Given the description of an element on the screen output the (x, y) to click on. 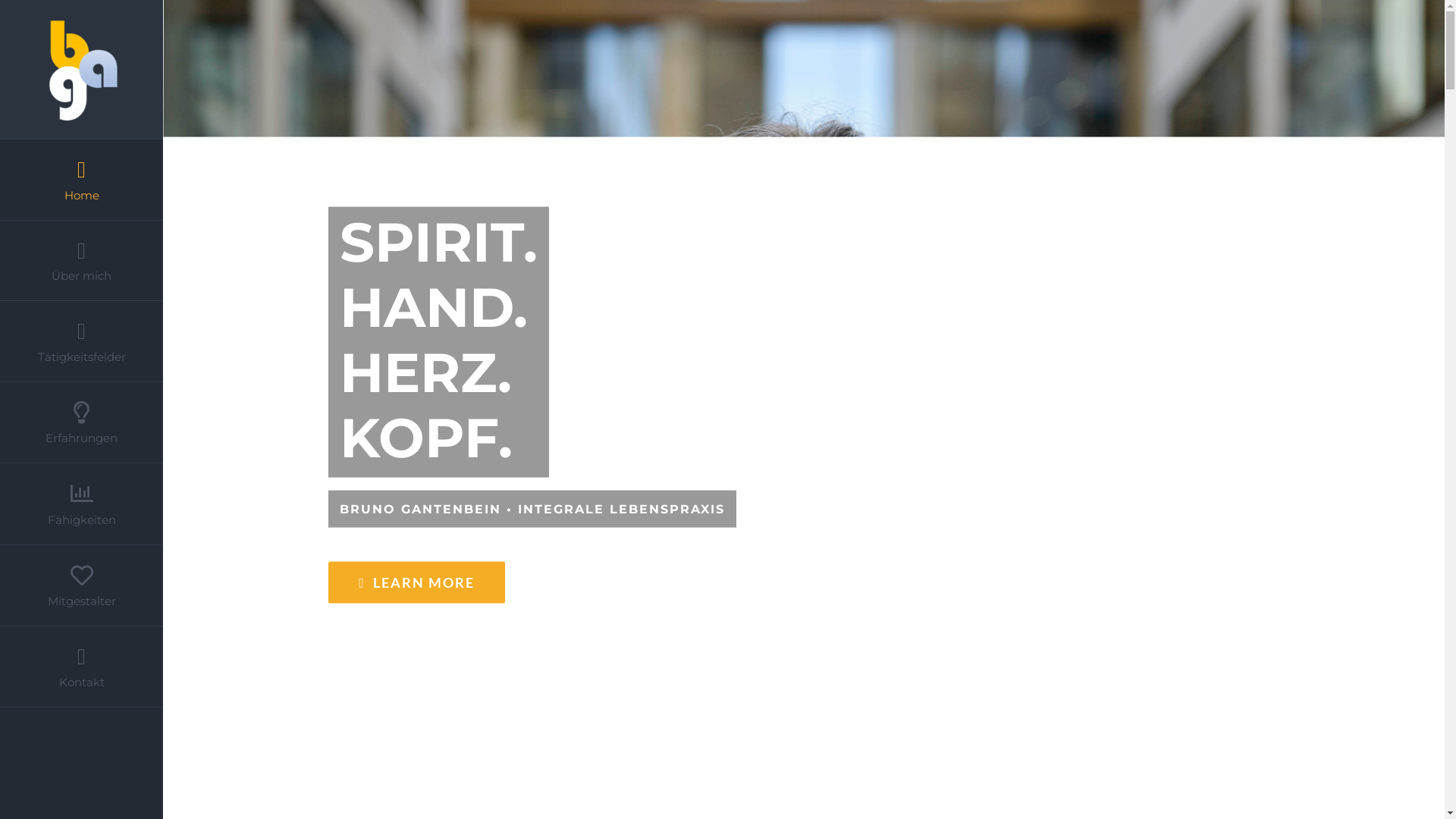
LEARN MORE Element type: text (416, 581)
Home Element type: text (81, 179)
Erfahrungen Element type: text (81, 423)
Mitgestalter Element type: text (81, 585)
Kontakt Element type: text (81, 666)
